Given the description of an element on the screen output the (x, y) to click on. 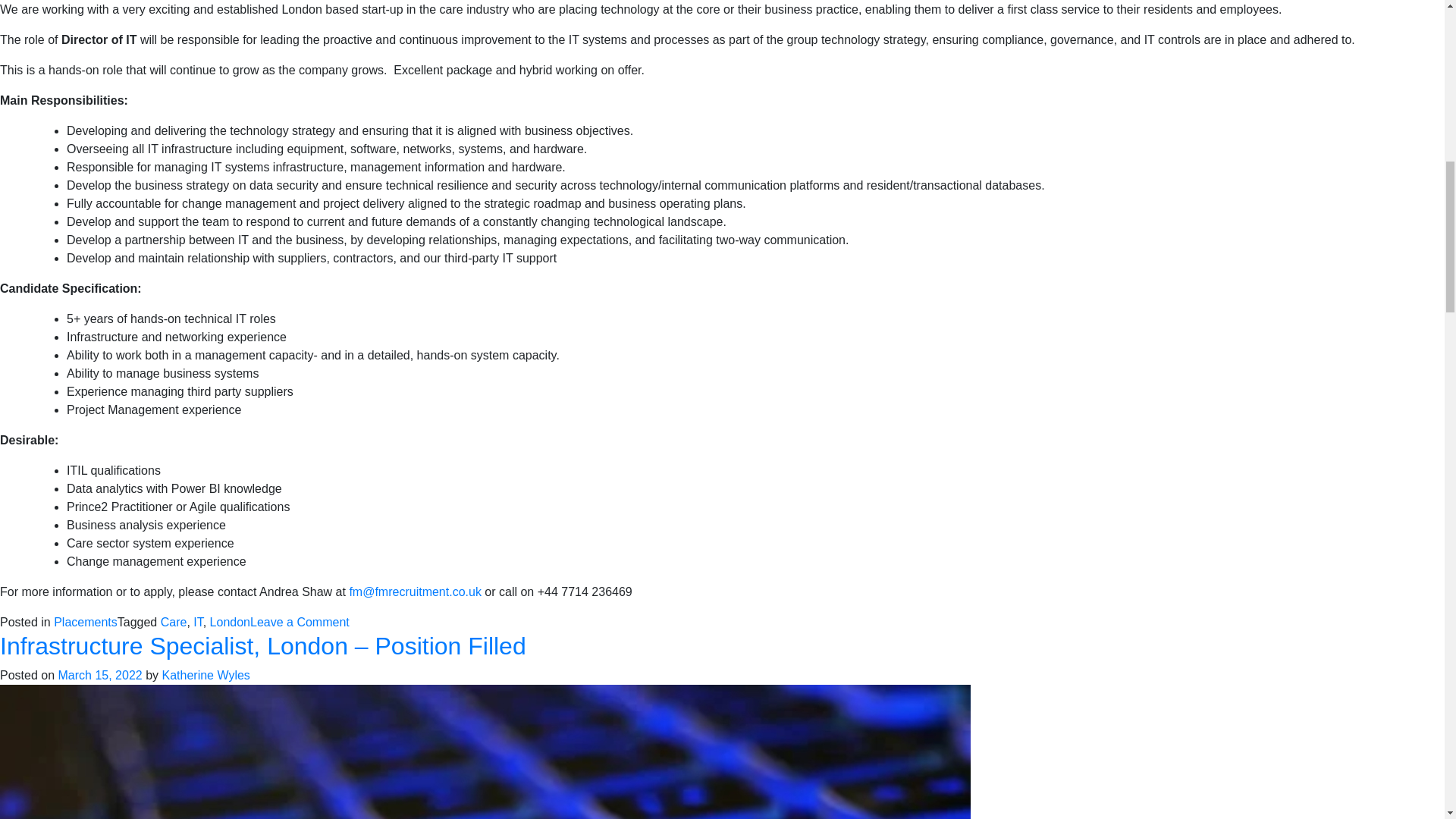
London (229, 621)
Katherine Wyles (204, 675)
March 15, 2022 (99, 675)
Placements (85, 621)
Care (173, 621)
